Given the description of an element on the screen output the (x, y) to click on. 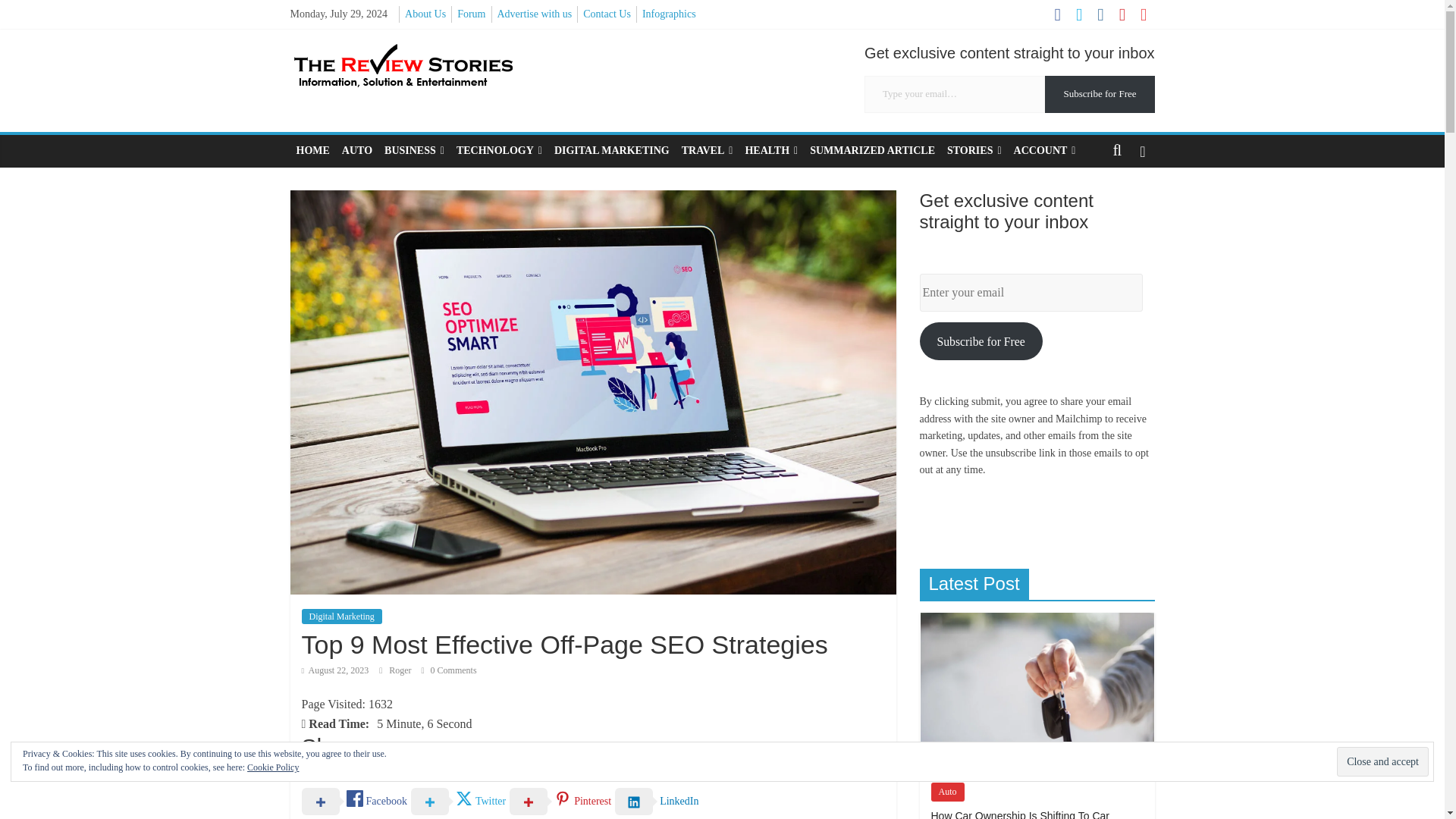
Roger (400, 670)
Forum (470, 13)
Contact Us (606, 13)
Infographics (668, 13)
11:07 am (335, 670)
Please fill in this field. (954, 94)
HOME (311, 151)
TRAVEL (707, 151)
SUMMARIZED ARTICLE (871, 151)
BUSINESS (413, 151)
About Us (424, 13)
Advertise with us (534, 13)
TECHNOLOGY (498, 151)
HEALTH (770, 151)
Close and accept (1382, 761)
